Given the description of an element on the screen output the (x, y) to click on. 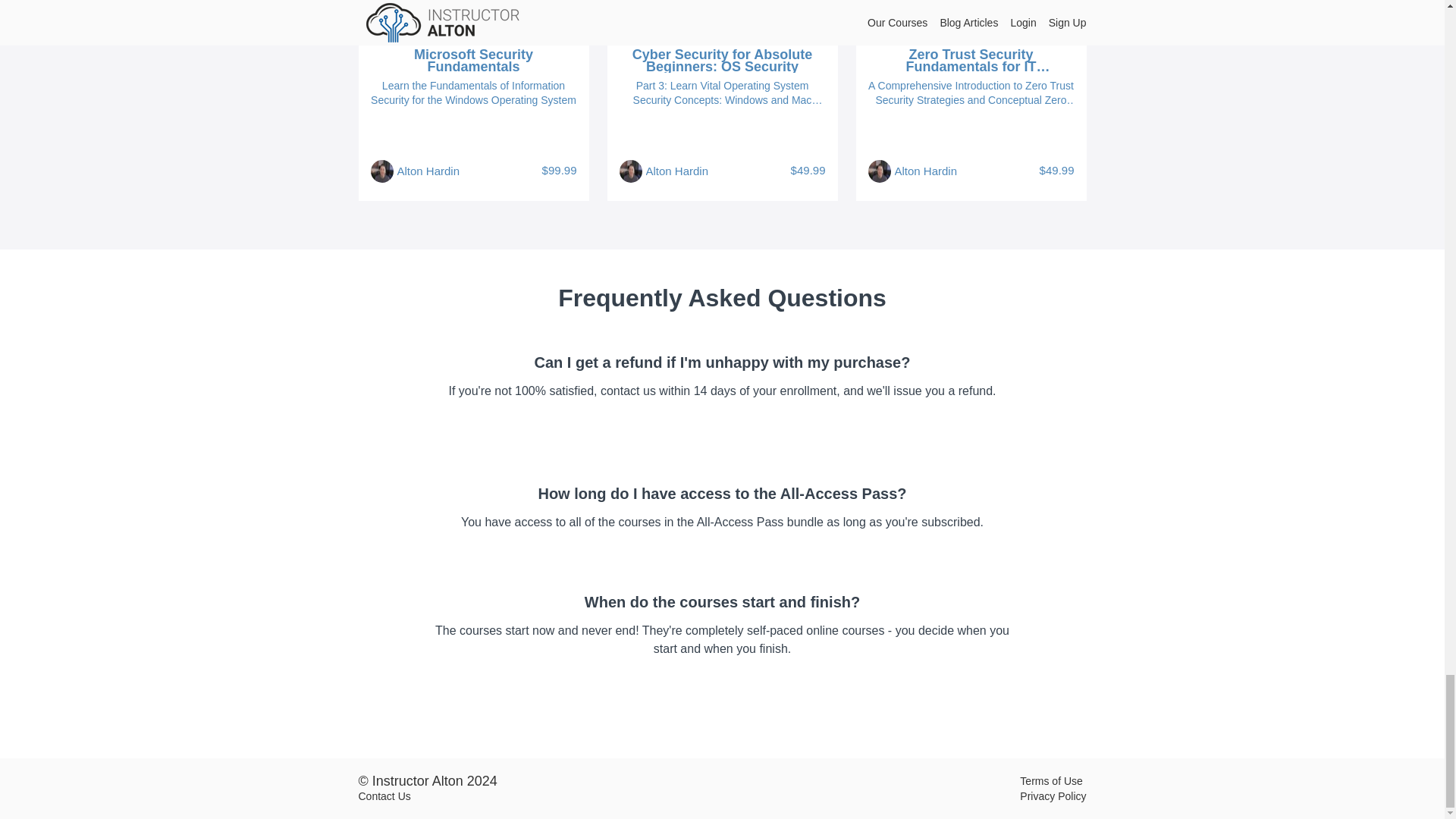
Privacy Policy (1053, 796)
Terms of Use (1050, 780)
Contact Us (384, 796)
